Given the description of an element on the screen output the (x, y) to click on. 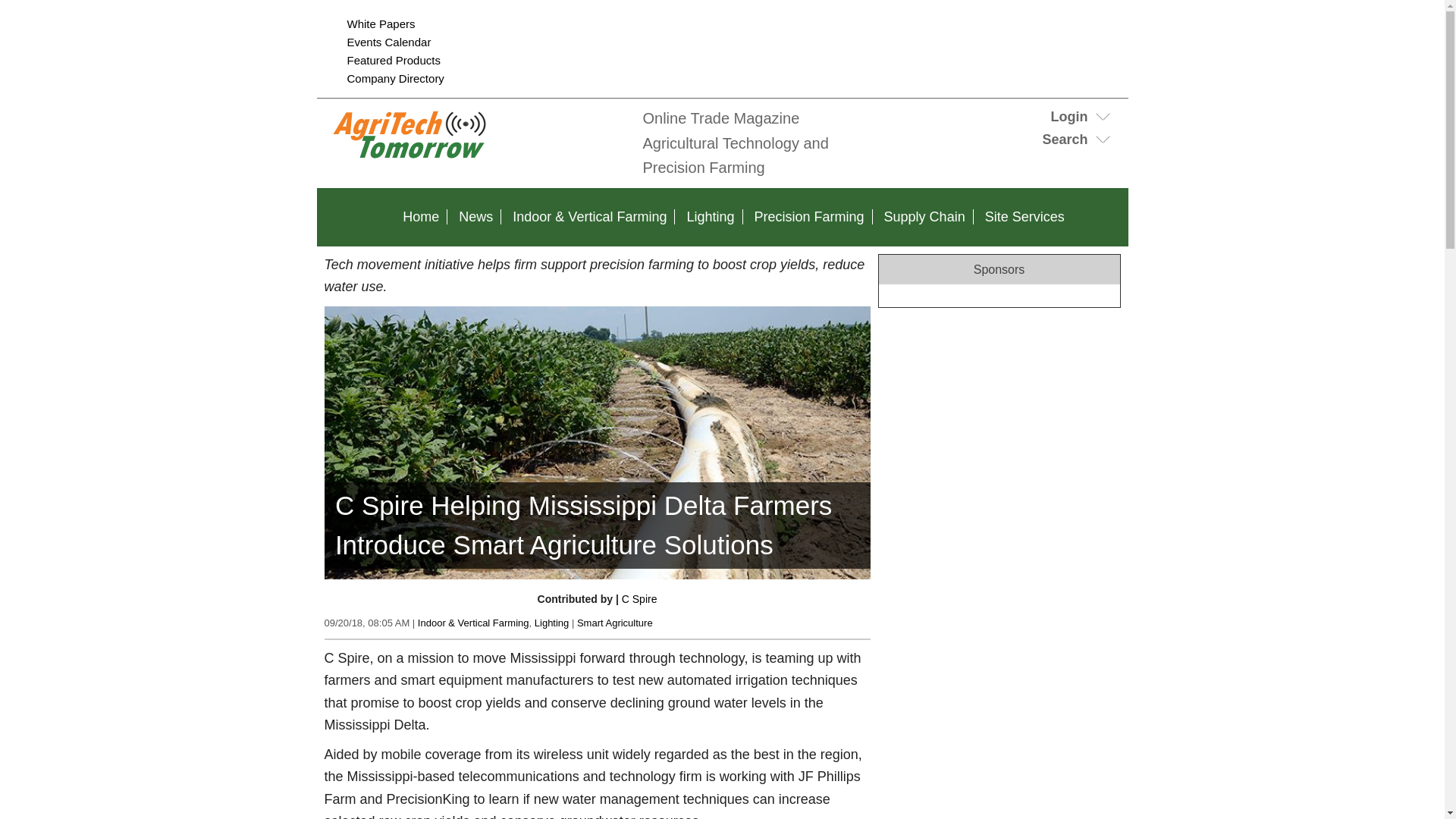
Events Calendar (388, 42)
Smart Agriculture (614, 622)
Supply Chain (924, 217)
C Spire (639, 598)
AgriTechTomorrow (475, 159)
Lighting (551, 622)
Site Services (1023, 217)
Featured Products (394, 60)
News (475, 217)
White Papers (380, 23)
